Given the description of an element on the screen output the (x, y) to click on. 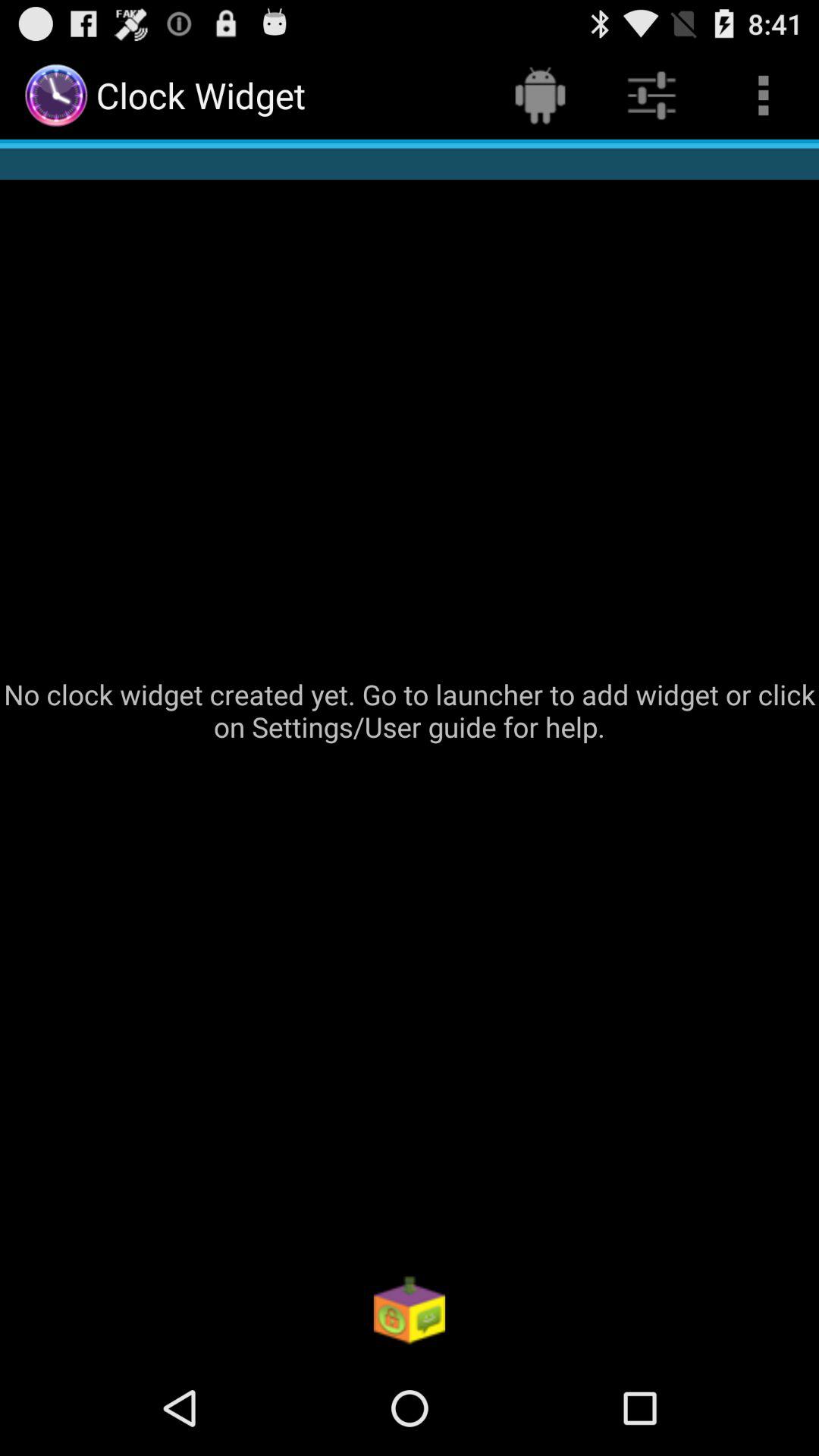
choose the app next to clock widget app (540, 95)
